Given the description of an element on the screen output the (x, y) to click on. 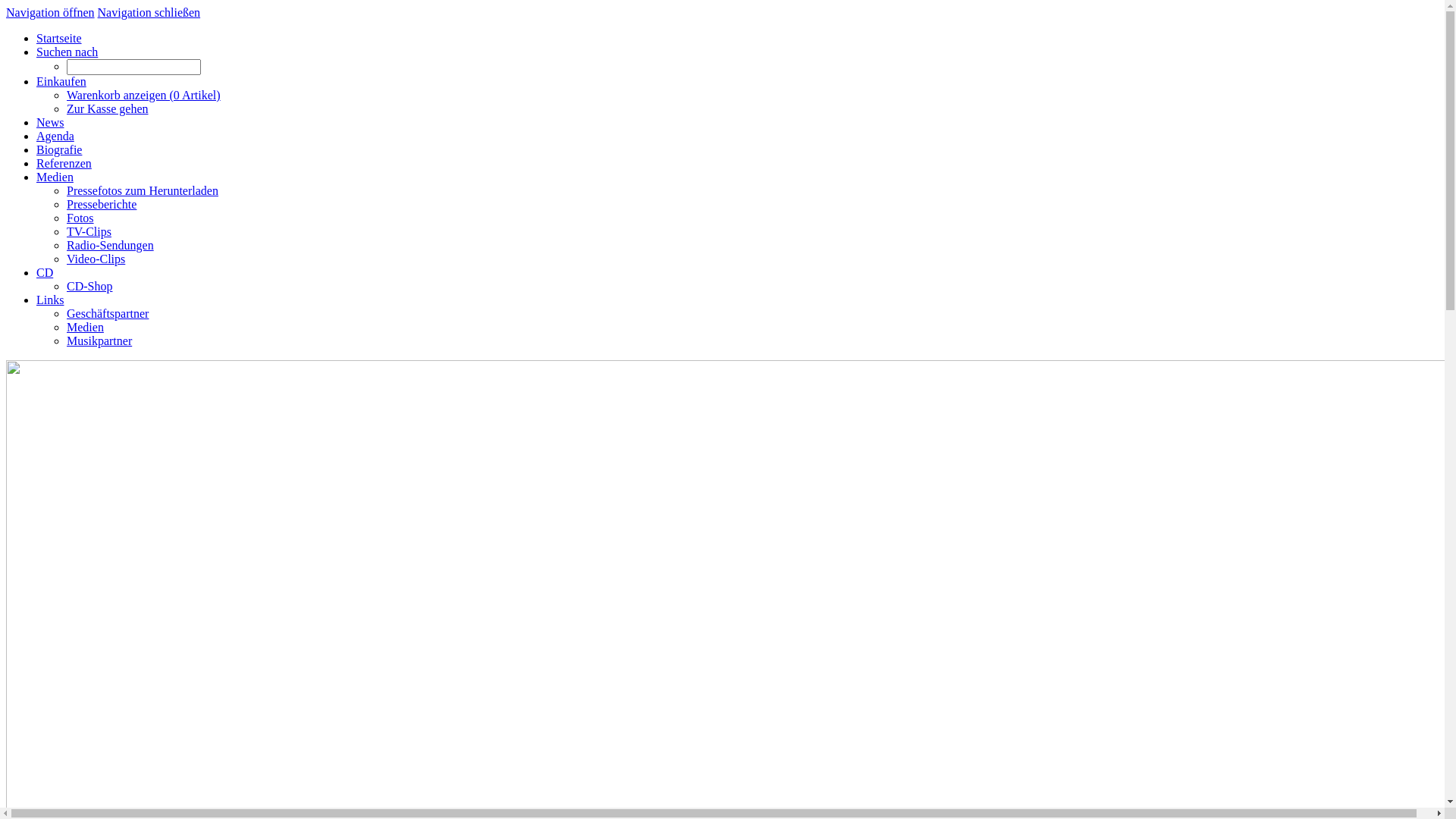
CD Element type: text (44, 272)
Musikpartner Element type: text (98, 340)
Agenda Element type: text (55, 135)
Pressefotos zum Herunterladen Element type: text (142, 190)
Medien Element type: text (54, 176)
Video-Clips Element type: text (95, 258)
Links Element type: text (49, 299)
Biografie Element type: text (58, 149)
CD-Shop Element type: text (89, 285)
Presseberichte Element type: text (101, 203)
Fotos Element type: text (80, 217)
Zur Kasse gehen Element type: text (107, 108)
News Element type: text (49, 122)
Medien Element type: text (84, 326)
Startseite Element type: text (58, 37)
Warenkorb anzeigen (0 Artikel) Element type: text (143, 94)
TV-Clips Element type: text (88, 231)
Einkaufen Element type: text (61, 81)
Suchen nach Element type: text (66, 51)
Radio-Sendungen Element type: text (109, 244)
Referenzen Element type: text (63, 162)
